Given the description of an element on the screen output the (x, y) to click on. 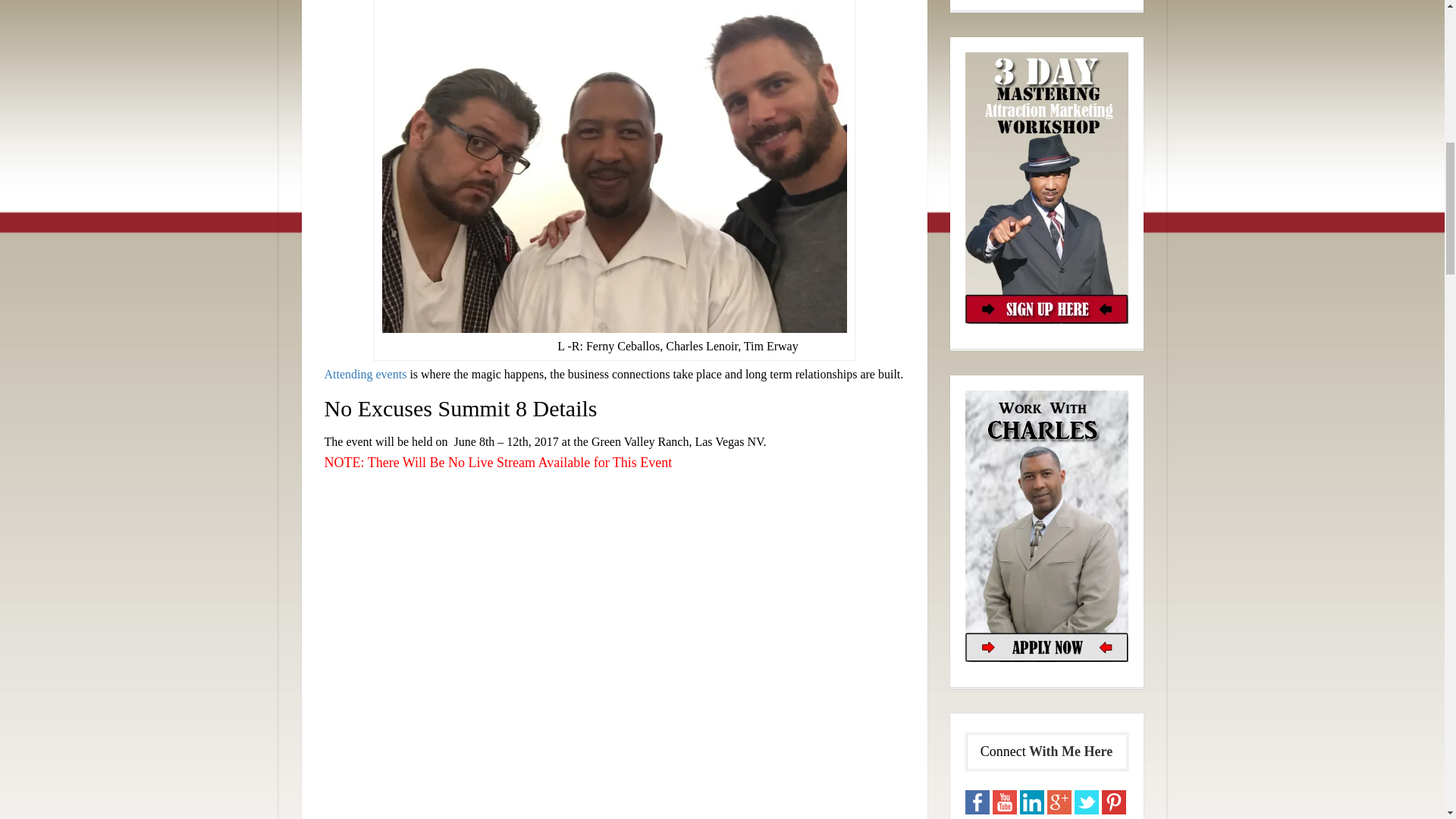
Attending events (365, 373)
